Given the description of an element on the screen output the (x, y) to click on. 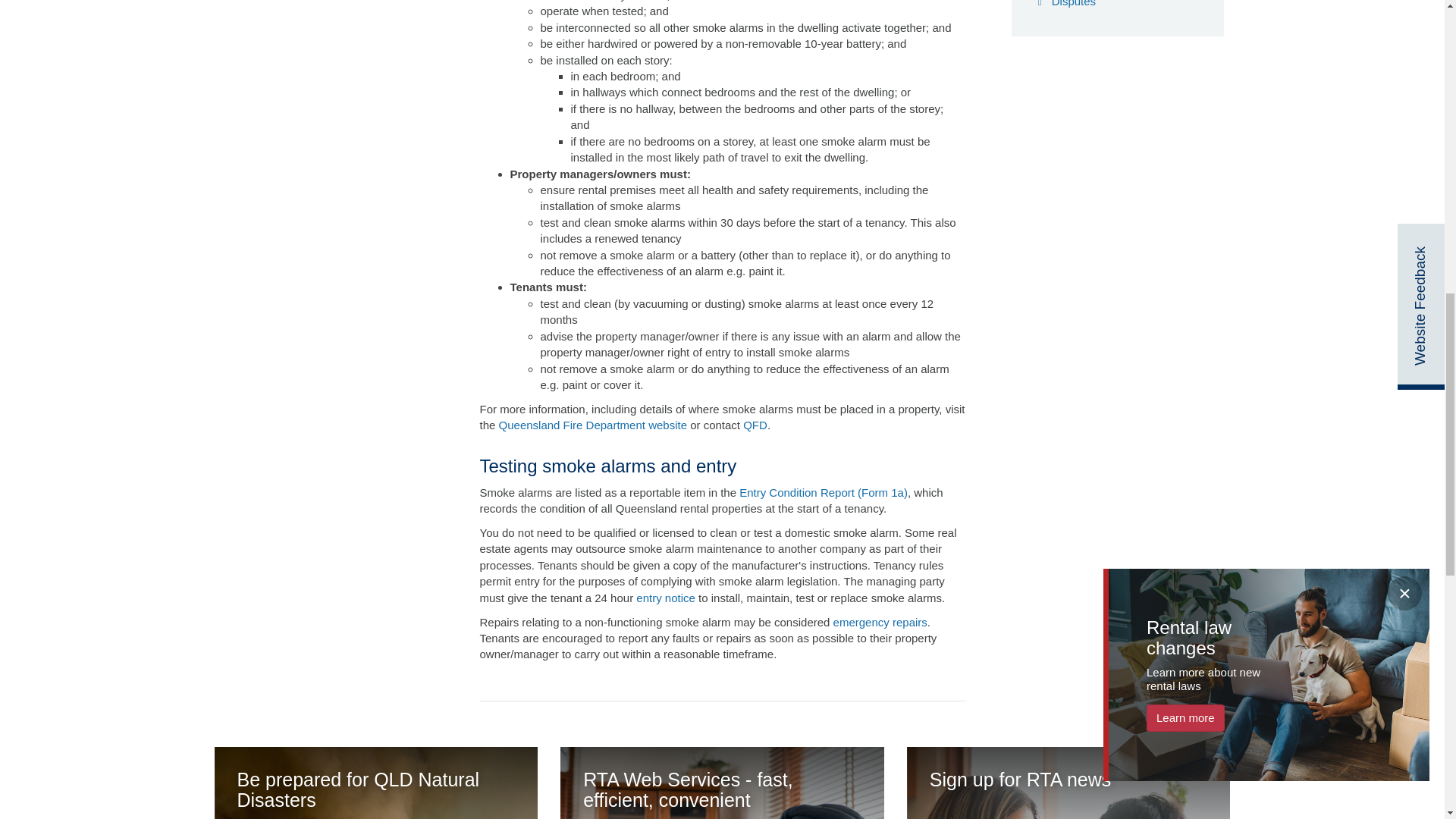
Emergency repairs (879, 621)
